Given the description of an element on the screen output the (x, y) to click on. 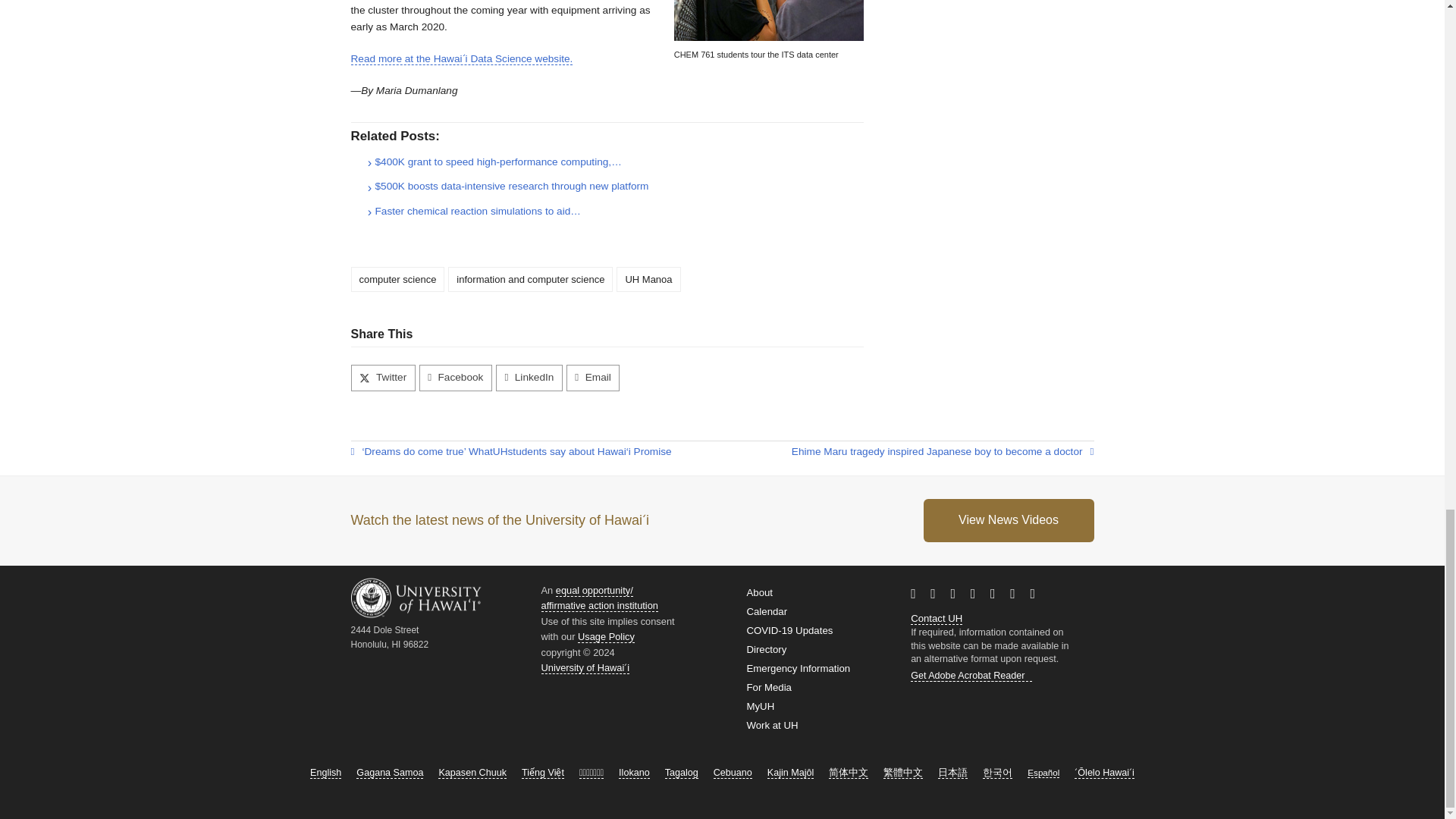
University of Hawaii (500, 451)
University of Hawaii (954, 618)
UH System home (585, 667)
